Given the description of an element on the screen output the (x, y) to click on. 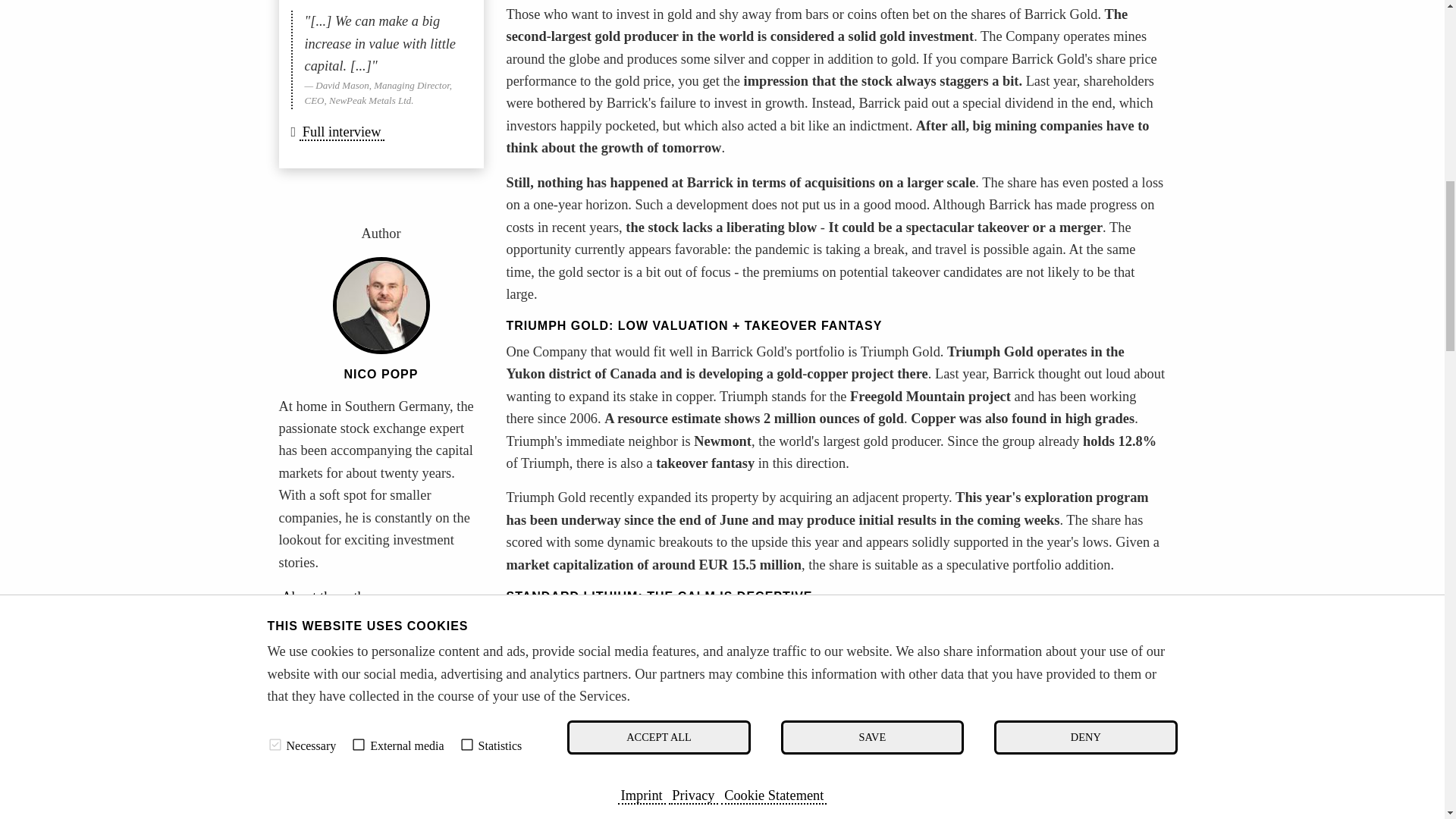
BIOTECHNOLOGY (336, 669)
ELECTROMOBILITY (339, 764)
BATTERYMETALS (418, 747)
GREENHYDROGEN (339, 778)
BATTERIES (320, 747)
Nico Popp (329, 597)
NICO POPP (381, 373)
BIOTECH (431, 669)
PHARMA (313, 685)
SUSTAINABILITY (404, 685)
About the author (329, 597)
Nico Popp (381, 373)
HYDROGEN (320, 732)
RENEWABLEENERGIES (349, 716)
Nico Popp (380, 305)
